Given the description of an element on the screen output the (x, y) to click on. 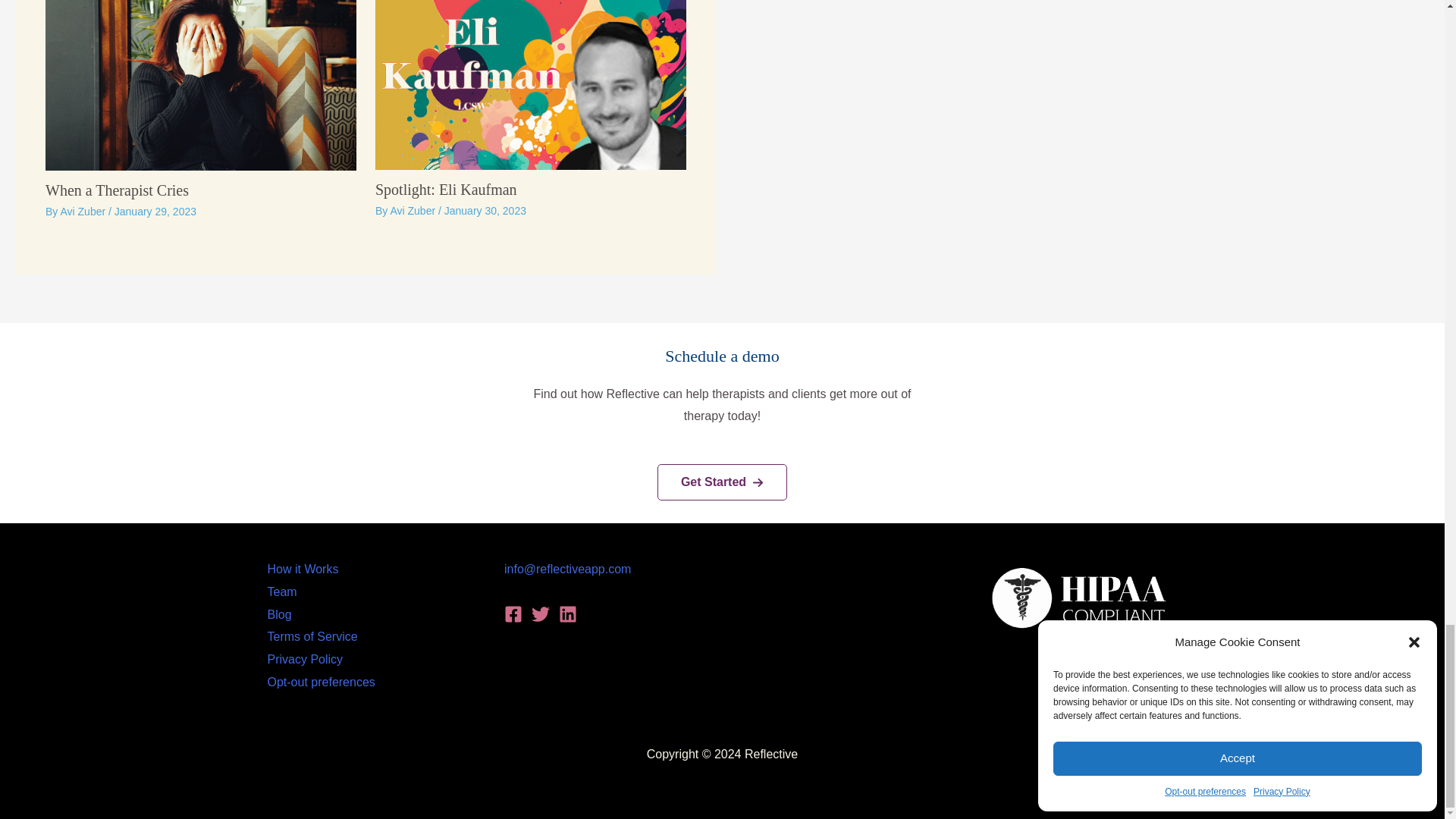
View all posts by Avi Zuber (414, 210)
View all posts by Avi Zuber (83, 211)
When a Therapist Cries (117, 190)
Avi Zuber (83, 211)
